Given the description of an element on the screen output the (x, y) to click on. 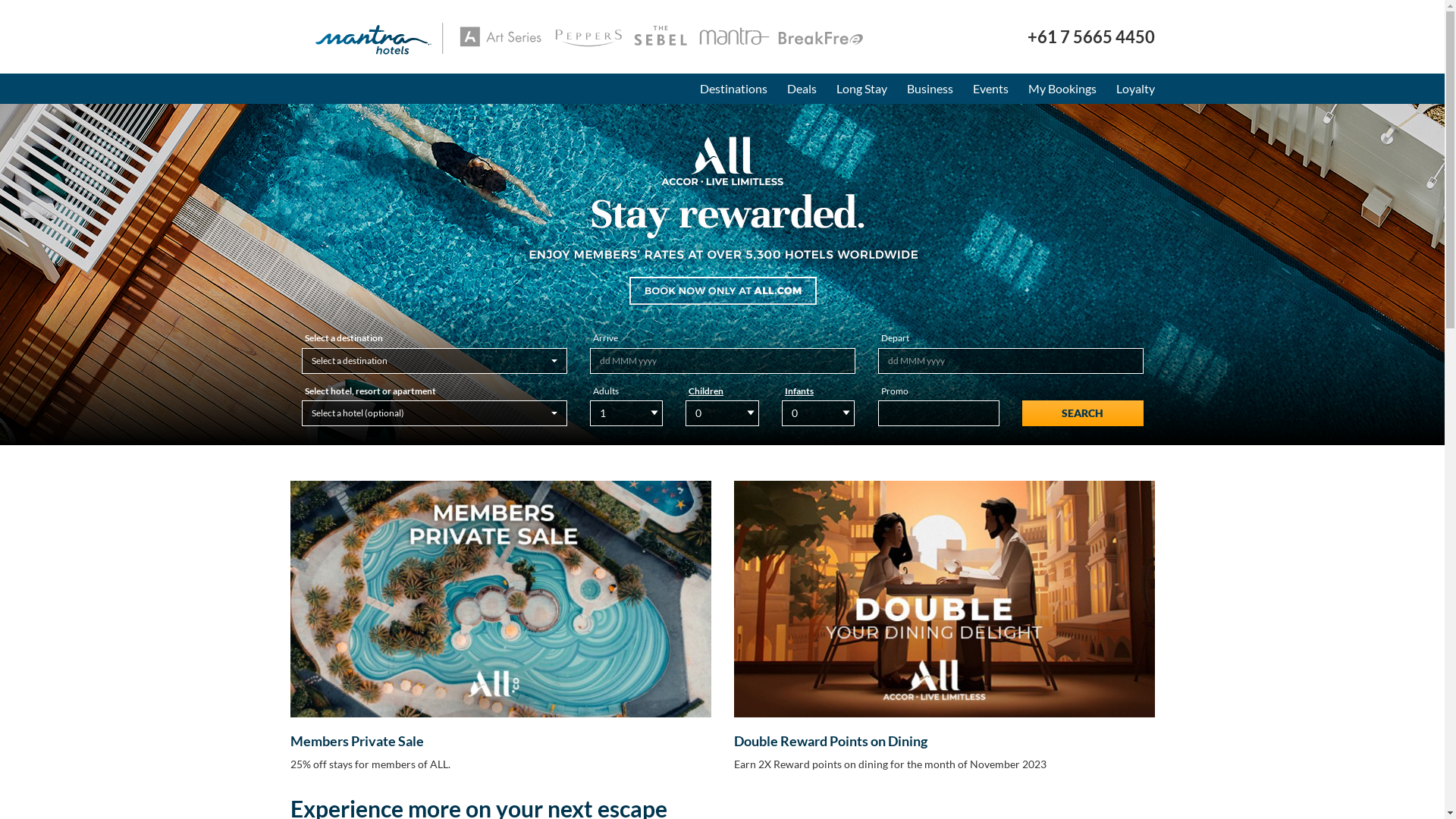
My Bookings Element type: text (1061, 88)
Select a destination
  Element type: text (434, 360)
+61 7 5665 4450 Element type: text (1090, 36)
Events Element type: text (990, 88)
Long Stay Element type: text (861, 88)
SEARCH Element type: text (1082, 413)
Loyalty Element type: text (1134, 88)
Mantra Group Hotels Element type: hover (577, 37)
Deals Element type: text (801, 88)
Select a hotel (optional)
  Element type: text (434, 413)
Business Element type: text (928, 88)
Destinations Element type: text (733, 88)
